Given the description of an element on the screen output the (x, y) to click on. 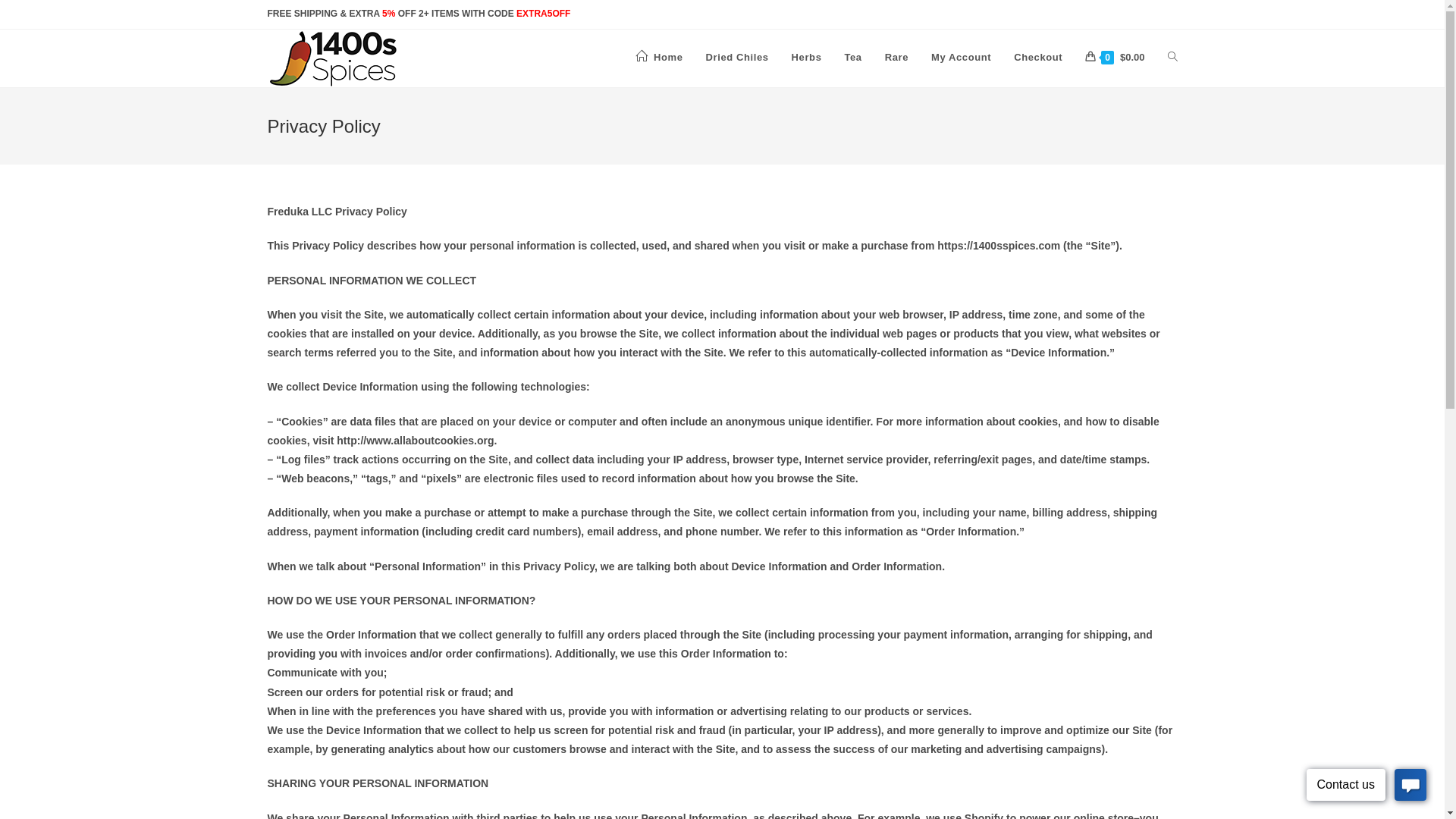
My Account Element type: text (960, 57)
0$0.00 Element type: text (1114, 57)
Checkout Element type: text (1037, 57)
Tea Element type: text (852, 57)
Herbs Element type: text (806, 57)
Pure Chat Live Chat Element type: hover (1366, 786)
Rare Element type: text (896, 57)
Dried Chiles Element type: text (737, 57)
Home Element type: text (658, 57)
Toggle website search Element type: text (1171, 57)
